Given the description of an element on the screen output the (x, y) to click on. 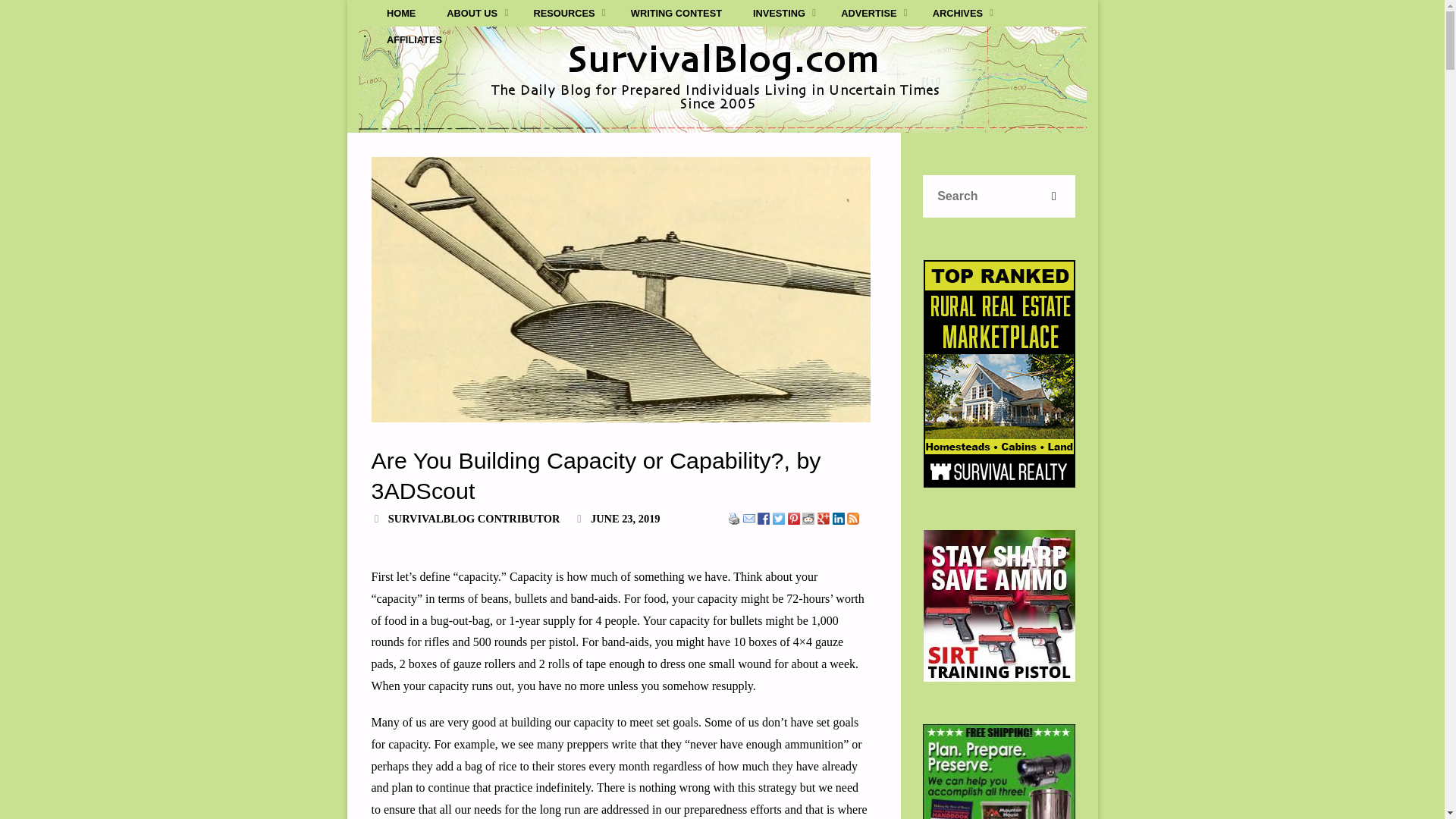
Are You Building Capacity or Capability?, by 3ADScout (620, 289)
Date (579, 518)
Print This Post (733, 518)
Skip to content (389, 63)
Email This Post (748, 517)
Email This Post (748, 518)
Print This Post (733, 517)
Survival Realty (999, 373)
Ready Made Resources (999, 771)
Author (376, 518)
View all posts by SurvivalBlog Contributor (473, 518)
NextLevel Training (999, 605)
